Given the description of an element on the screen output the (x, y) to click on. 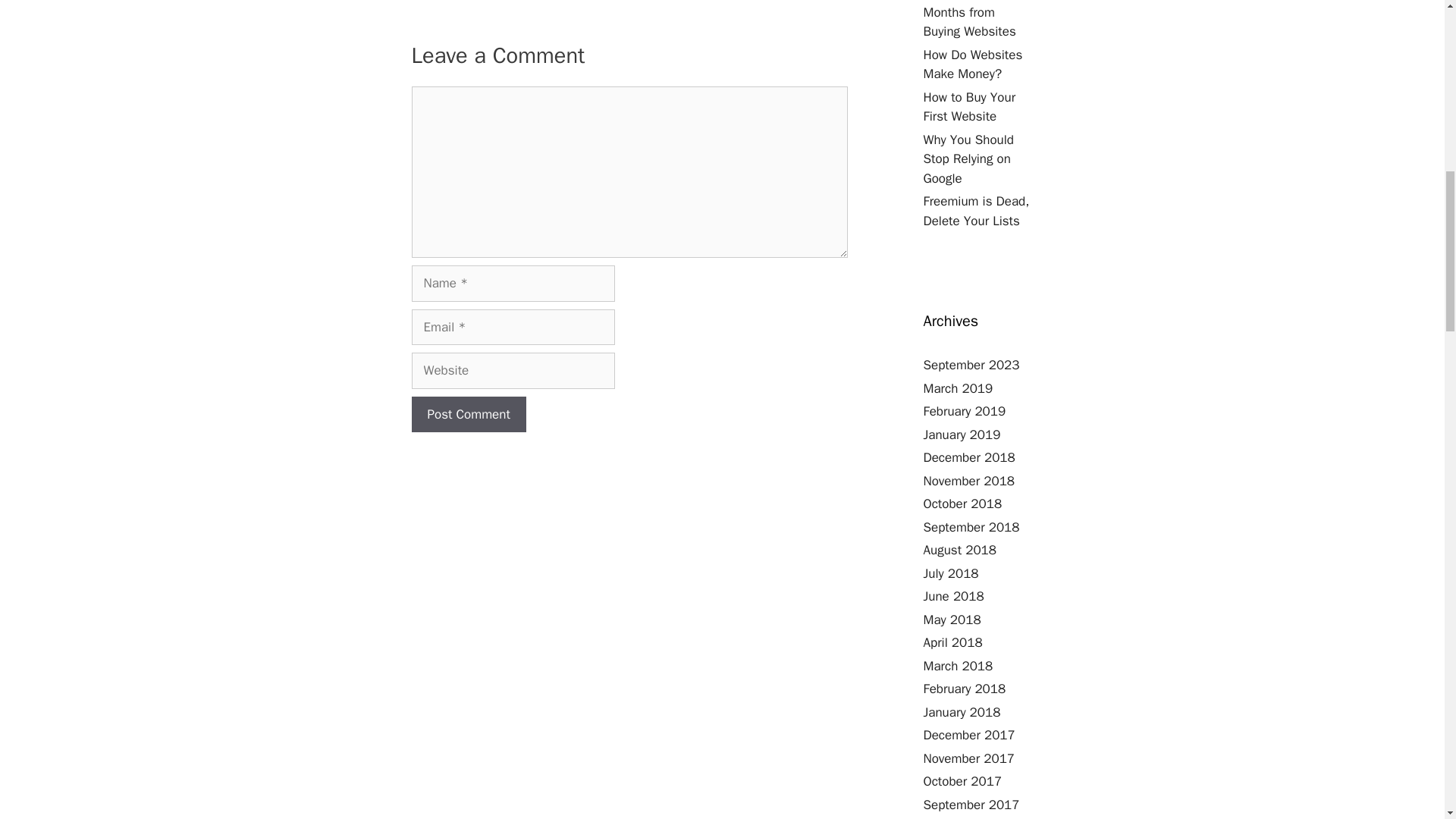
Post Comment (467, 414)
July 2018 (950, 573)
September 2023 (971, 365)
March 2019 (957, 388)
Why You Should Stop Relying on Google (968, 158)
August 2018 (959, 549)
October 2018 (963, 503)
June 2018 (953, 596)
January 2019 (962, 433)
Freemium is Dead, Delete Your Lists (976, 211)
November 2018 (968, 480)
September 2018 (971, 526)
February 2019 (964, 411)
How to Buy Your First Website (969, 107)
March 2018 (957, 666)
